Given the description of an element on the screen output the (x, y) to click on. 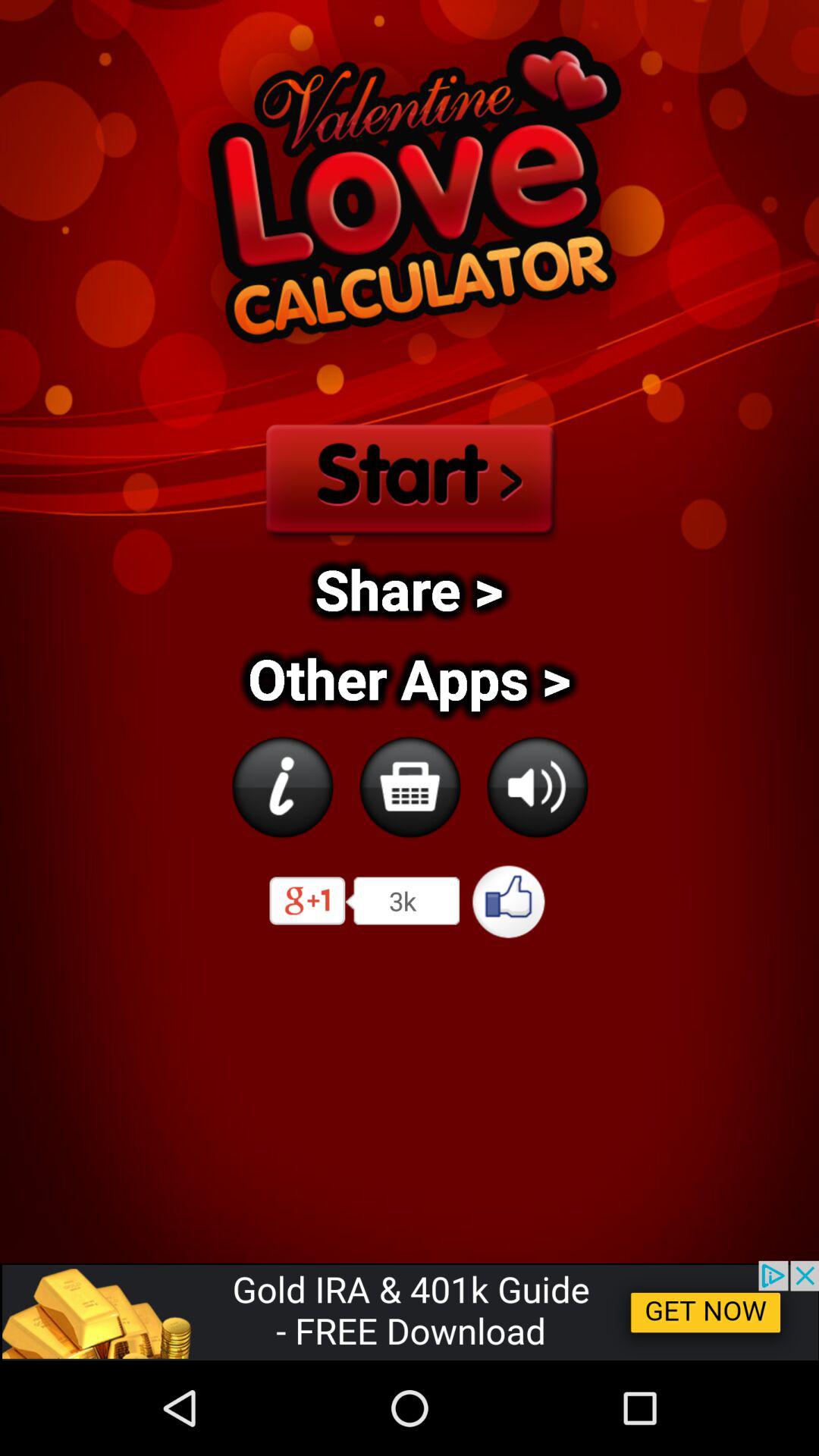
shop now box (409, 786)
